Given the description of an element on the screen output the (x, y) to click on. 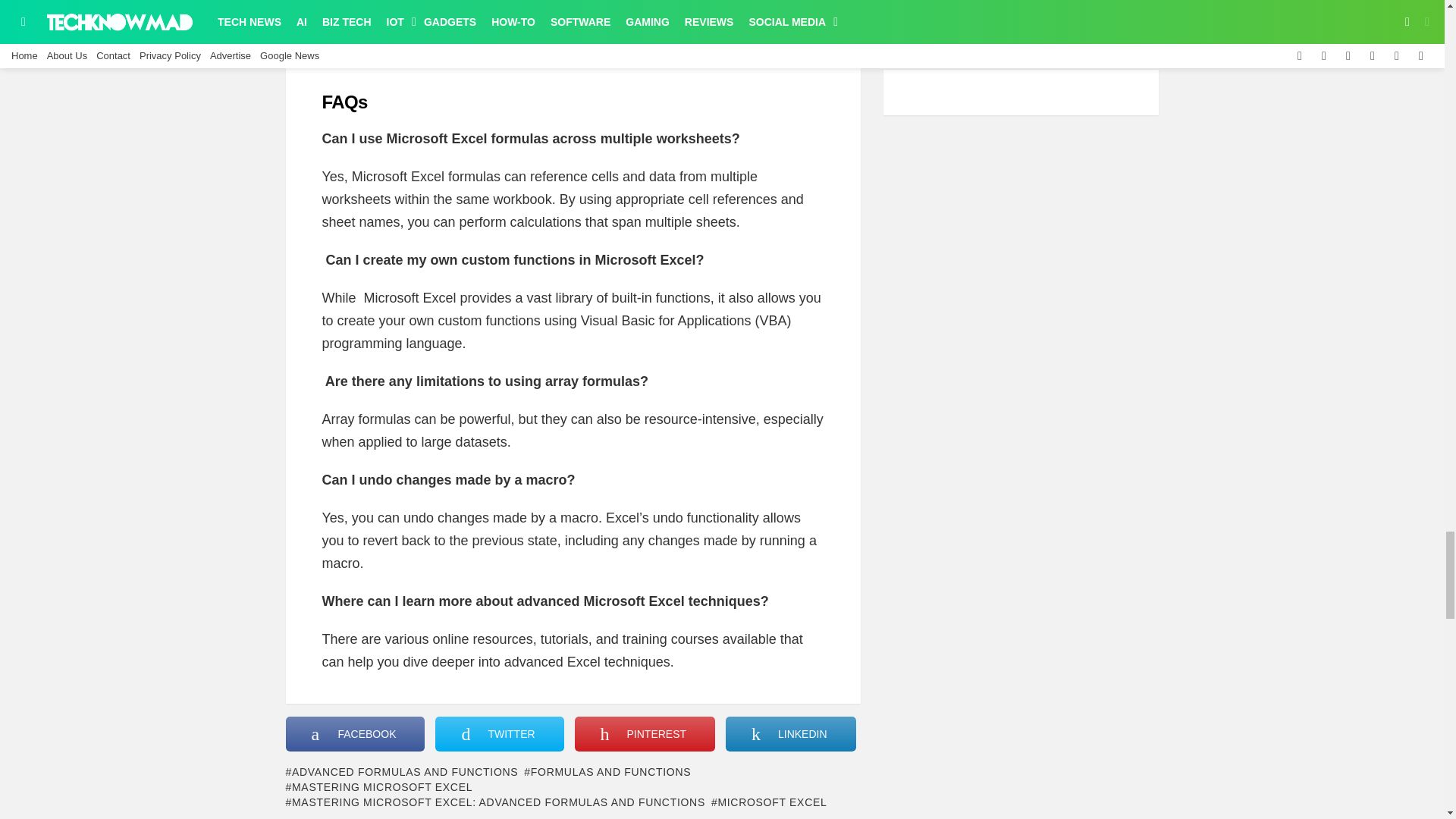
Share on LinkedIn (790, 733)
Share on Twitter (499, 733)
Share on Pinterest (644, 733)
Share on Facebook (355, 733)
